Given the description of an element on the screen output the (x, y) to click on. 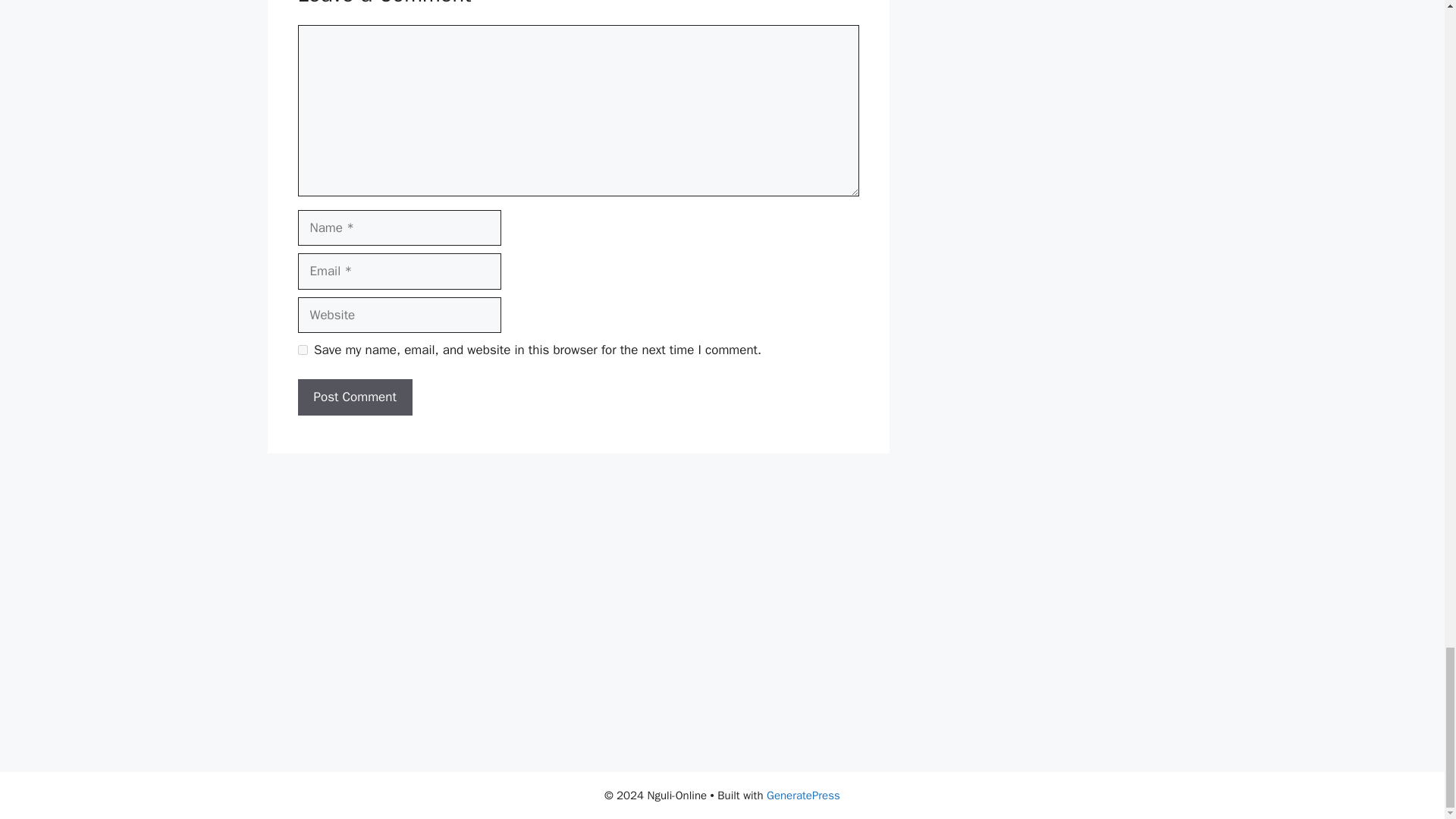
Post Comment (354, 397)
Post Comment (354, 397)
GeneratePress (803, 795)
yes (302, 349)
